Given the description of an element on the screen output the (x, y) to click on. 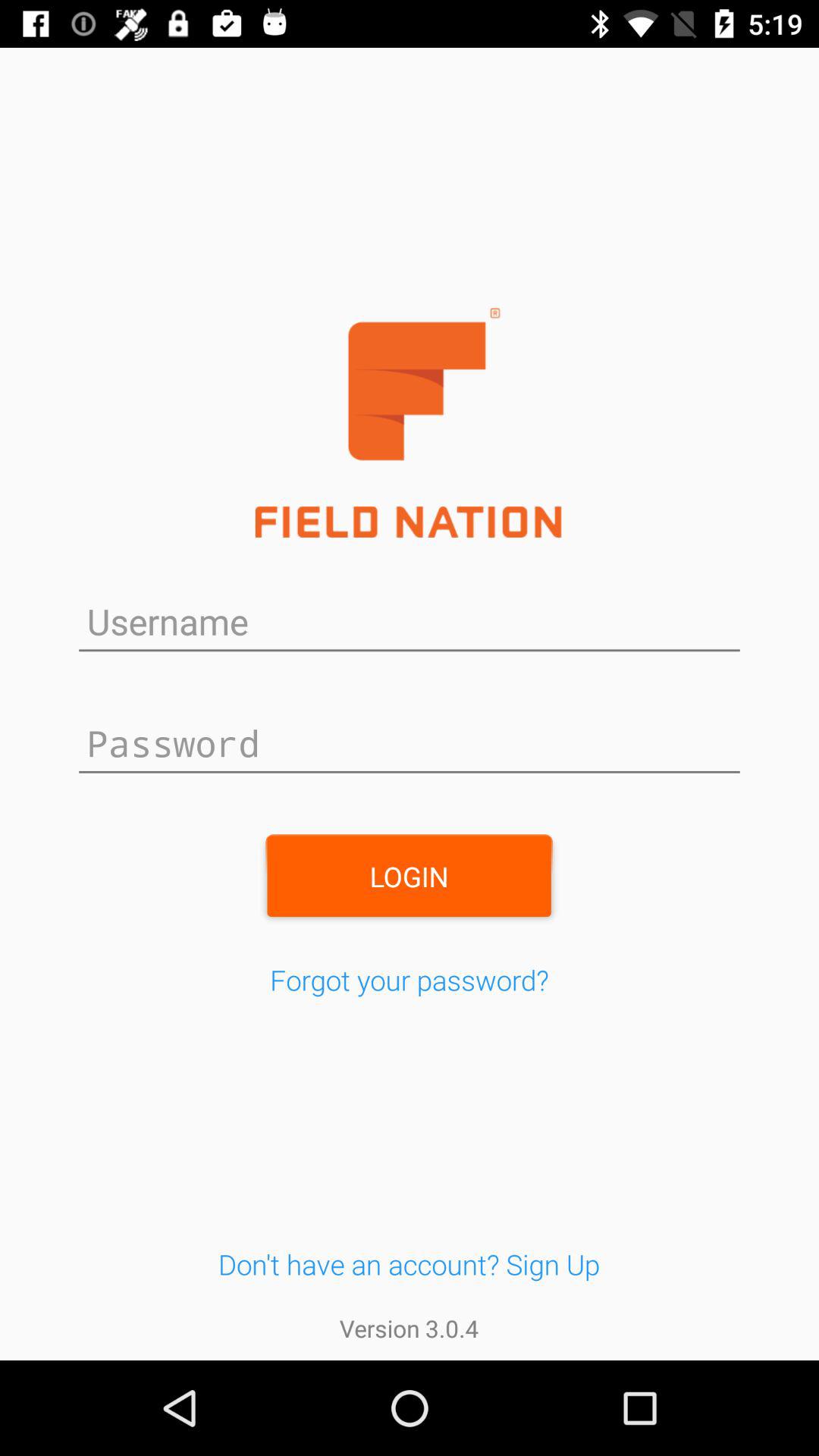
select the icon above the version 3 0 app (408, 1264)
